Given the description of an element on the screen output the (x, y) to click on. 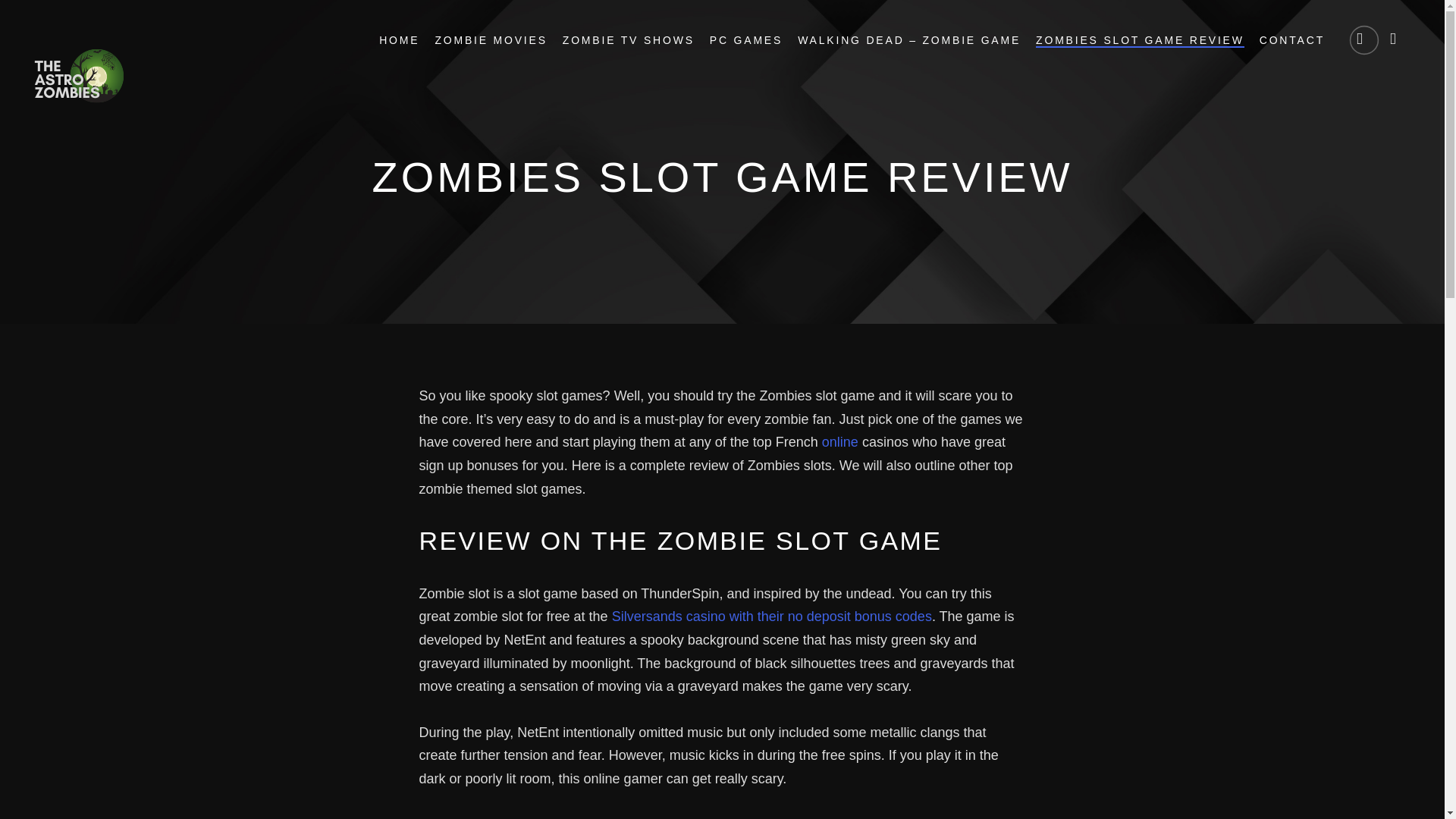
CONTACT (1291, 40)
online (840, 441)
ZOMBIE TV SHOWS (628, 40)
PC GAMES (746, 40)
ZOMBIES SLOT GAME REVIEW (1139, 40)
Silversands casino with their no deposit bonus codes (771, 616)
ZOMBIE MOVIES (490, 40)
HOME (398, 40)
